Given the description of an element on the screen output the (x, y) to click on. 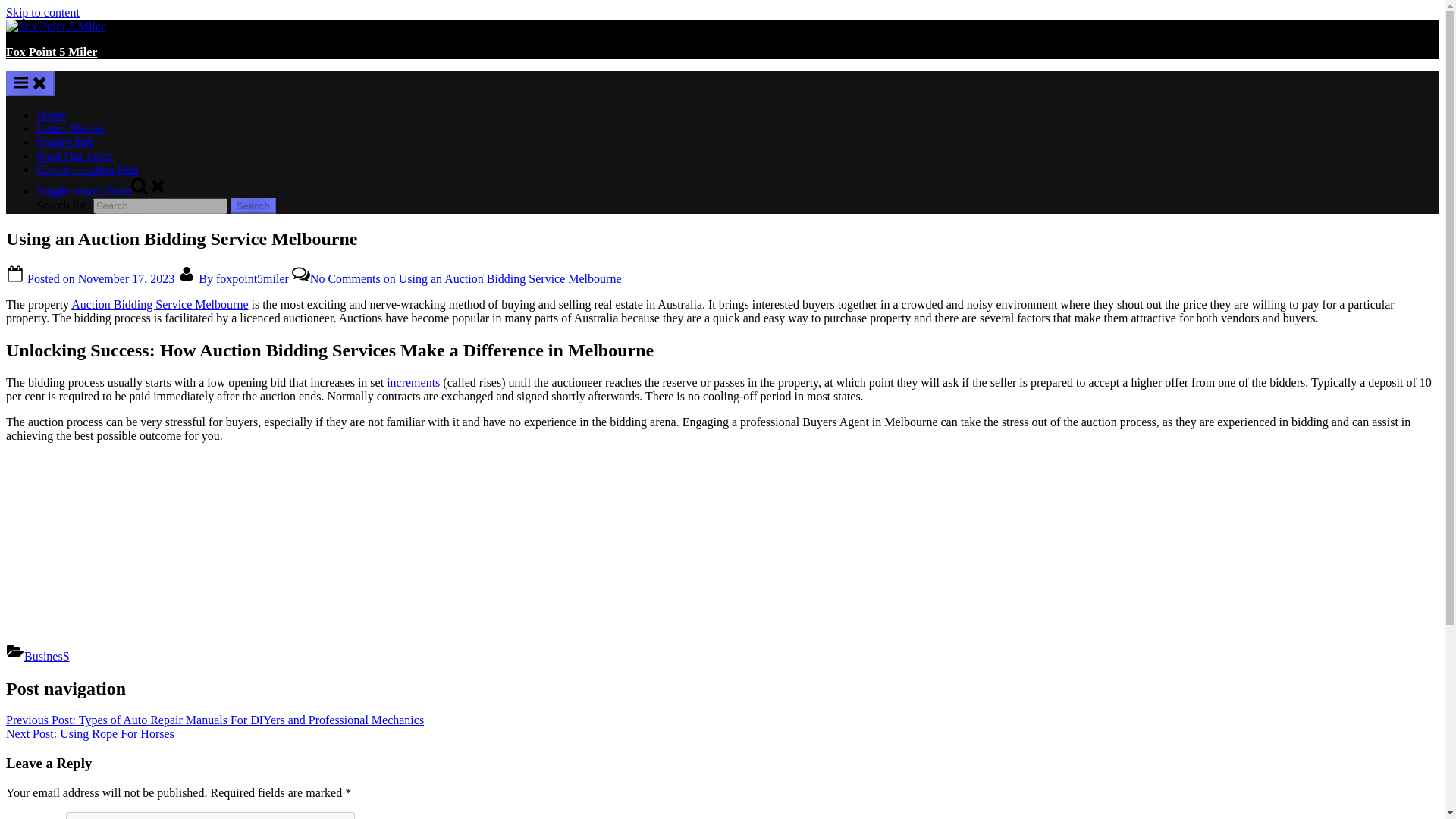
Skip to content (42, 11)
Spoiler hub (64, 141)
Fox Point 5 Miler (51, 51)
Search (253, 205)
Toggle search form (101, 190)
increments (413, 382)
Posted on November 17, 2023 (102, 278)
Next Post: Using Rope For Horses (89, 733)
BusinesS (46, 656)
No Comments on Using an Auction Bidding Service Melbourne (465, 278)
